Given the description of an element on the screen output the (x, y) to click on. 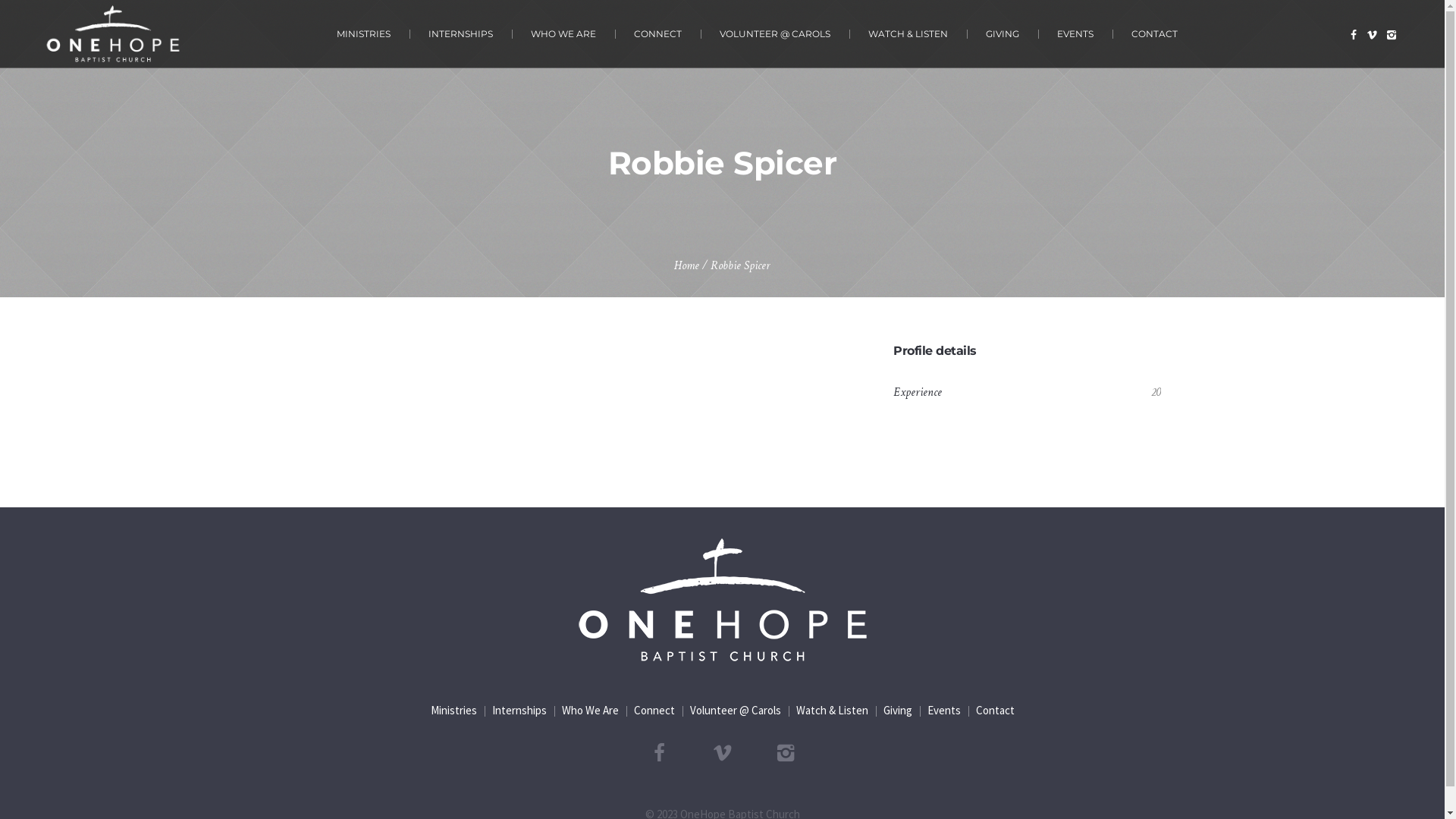
VOLUNTEER @ CAROLS Element type: text (774, 33)
OneHope Baptist Church Element type: hover (721, 599)
Internships Element type: text (518, 710)
MINISTRIES Element type: text (363, 33)
Giving Element type: text (896, 710)
Vimeo Element type: hover (1372, 34)
Facebook Element type: hover (1353, 34)
Instagram Element type: hover (1391, 34)
Connect Element type: text (653, 710)
Instagram Element type: hover (784, 752)
Who We Are Element type: text (589, 710)
WHO WE ARE Element type: text (563, 33)
Vimeo Element type: hover (722, 752)
Facebook Element type: hover (658, 752)
EVENTS Element type: text (1075, 33)
Volunteer @ Carols Element type: text (735, 710)
Events Element type: text (943, 710)
CONNECT Element type: text (657, 33)
GIVING Element type: text (1002, 33)
CONTACT Element type: text (1154, 33)
INTERNSHIPS Element type: text (460, 33)
WATCH & LISTEN Element type: text (907, 33)
Home Element type: text (686, 265)
Contact Element type: text (994, 710)
Watch & Listen Element type: text (832, 710)
Ministries Element type: text (453, 710)
